Given the description of an element on the screen output the (x, y) to click on. 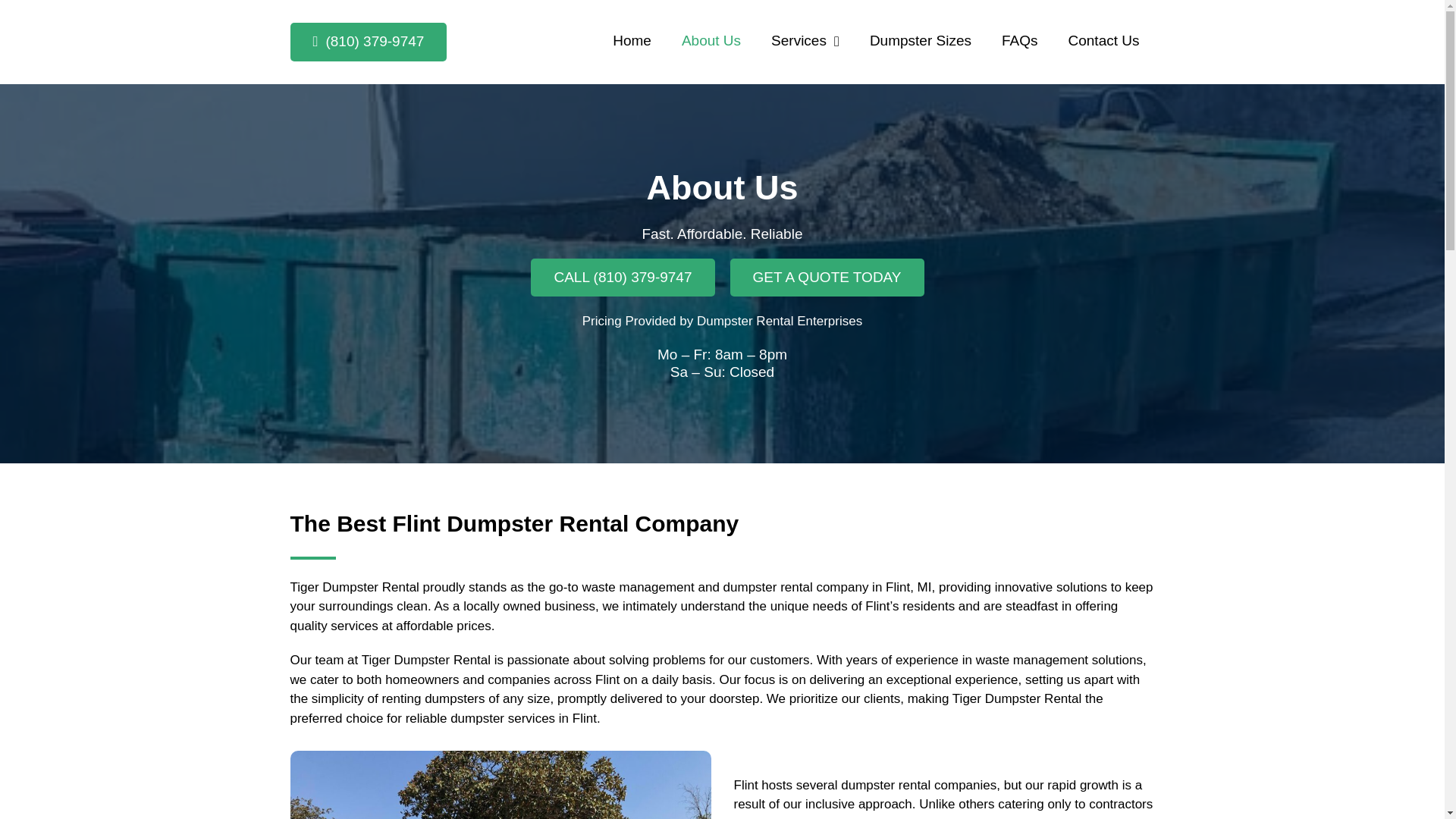
FAQs (1019, 40)
Dumpster Sizes (920, 40)
GET A QUOTE TODAY (826, 276)
Services (804, 40)
Home (631, 40)
Contact Us (1103, 40)
About Us (710, 40)
